Given the description of an element on the screen output the (x, y) to click on. 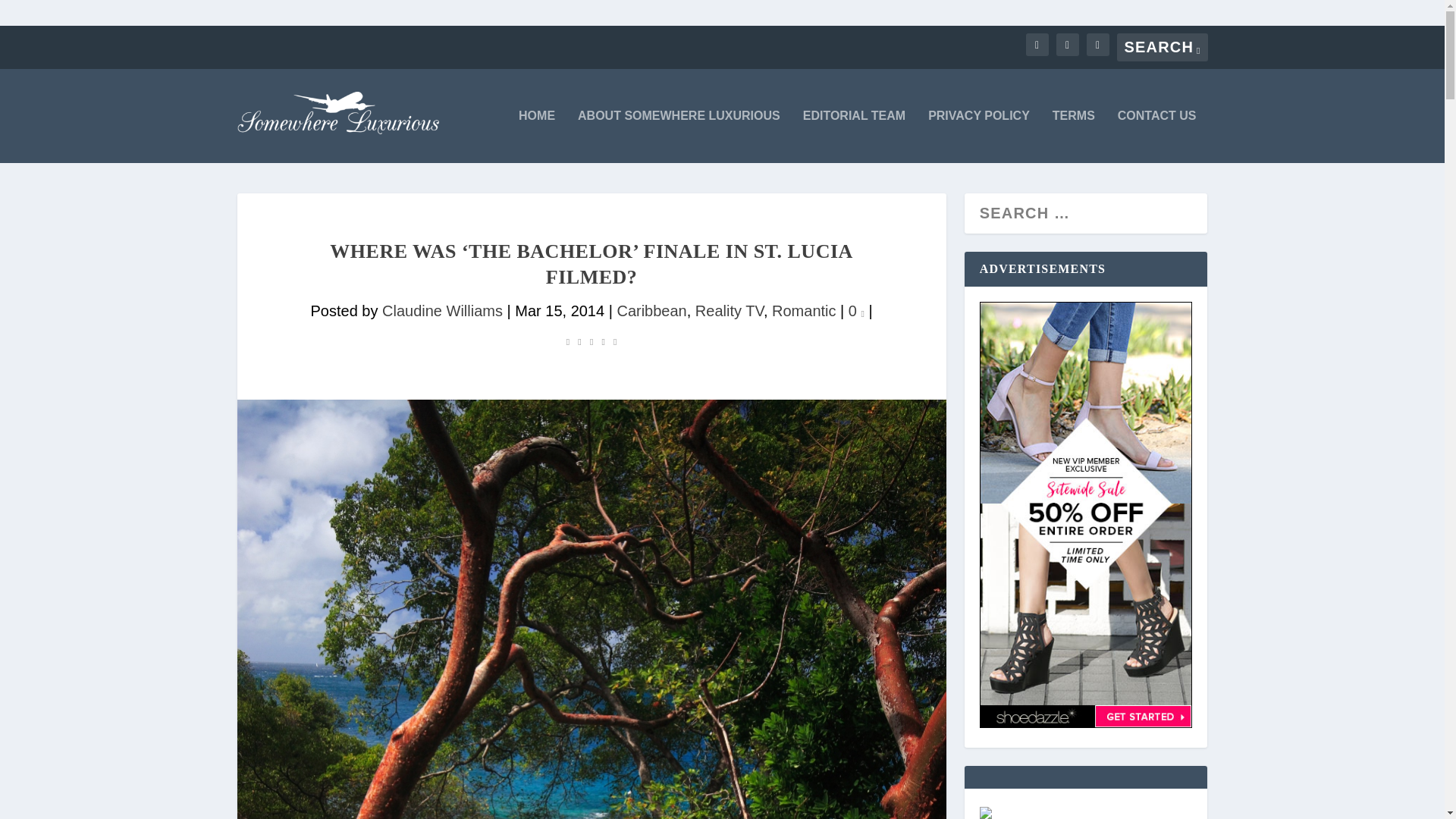
PRIVACY POLICY (978, 135)
Caribbean (650, 310)
Claudine Williams (441, 310)
Rating: 0.00 (591, 339)
0 (856, 310)
EDITORIAL TEAM (854, 135)
Search for: (1161, 47)
ABOUT SOMEWHERE LUXURIOUS (679, 135)
CONTACT US (1157, 135)
Romantic (803, 310)
Reality TV (728, 310)
Posts by Claudine Williams (441, 310)
